Given the description of an element on the screen output the (x, y) to click on. 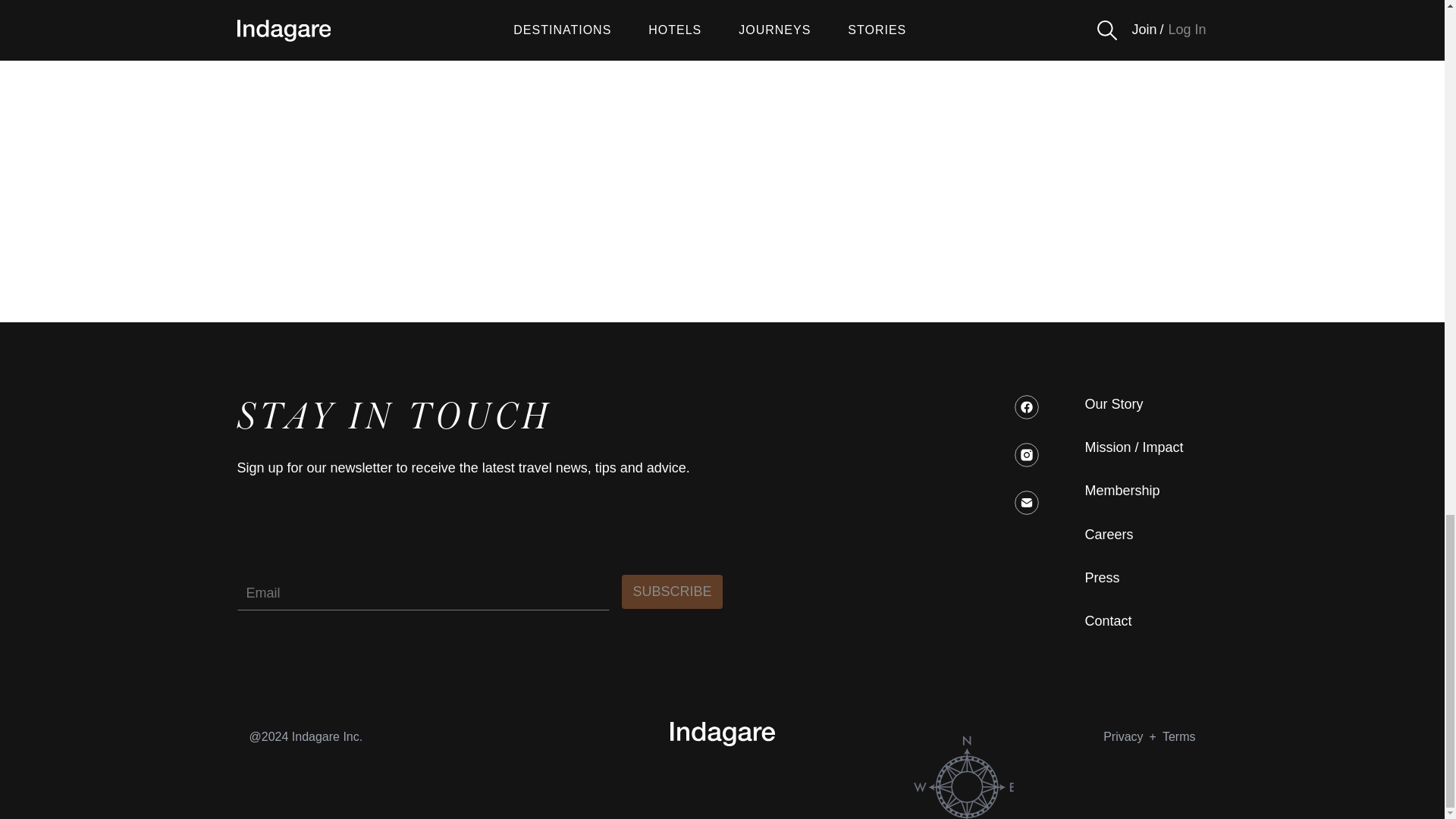
Contact (1107, 620)
Our Story (1113, 404)
Careers (1108, 534)
SUBSCRIBE (671, 591)
Press (1101, 578)
Membership (1121, 490)
